Given the description of an element on the screen output the (x, y) to click on. 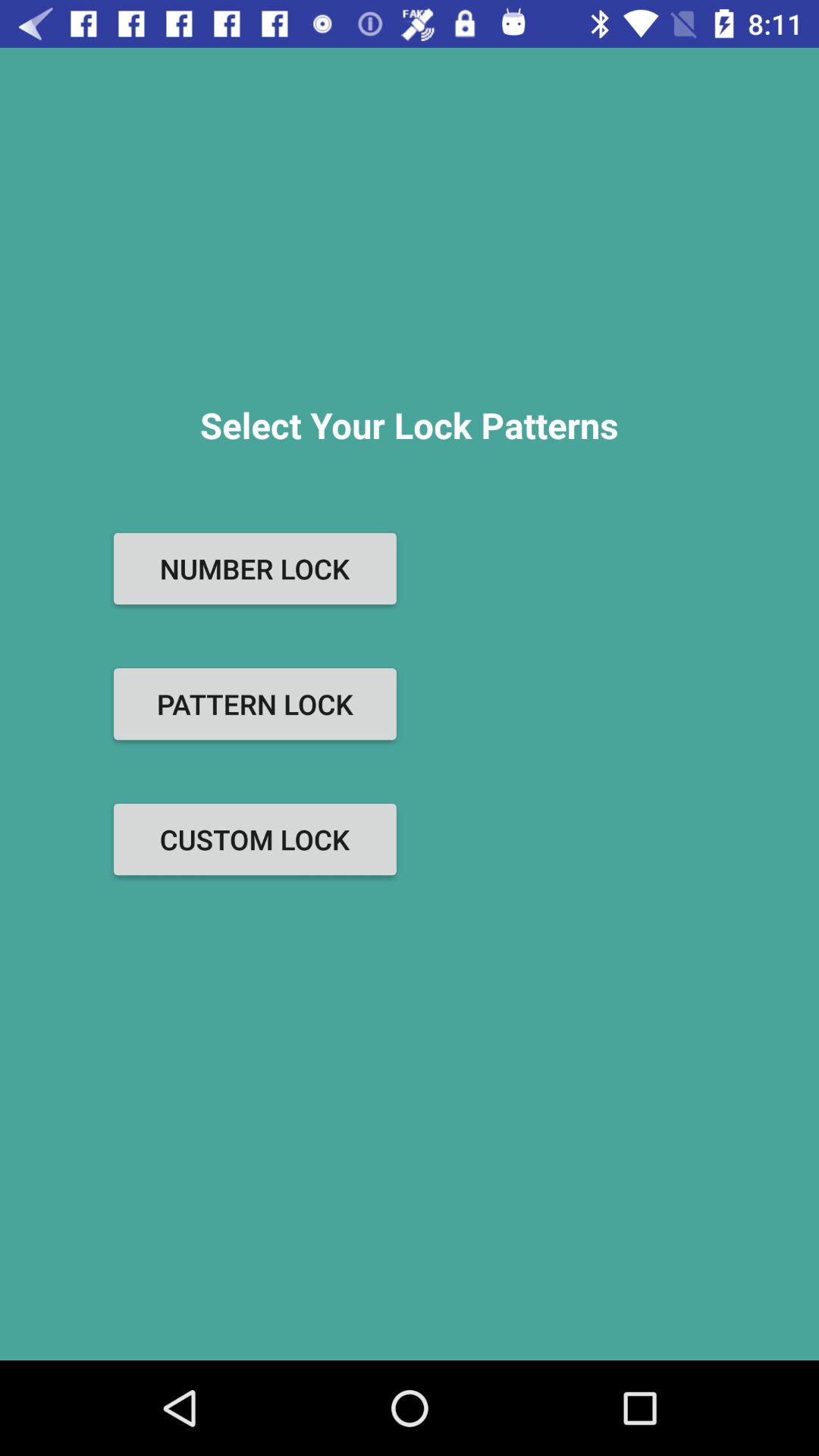
jump until custom lock (254, 839)
